Given the description of an element on the screen output the (x, y) to click on. 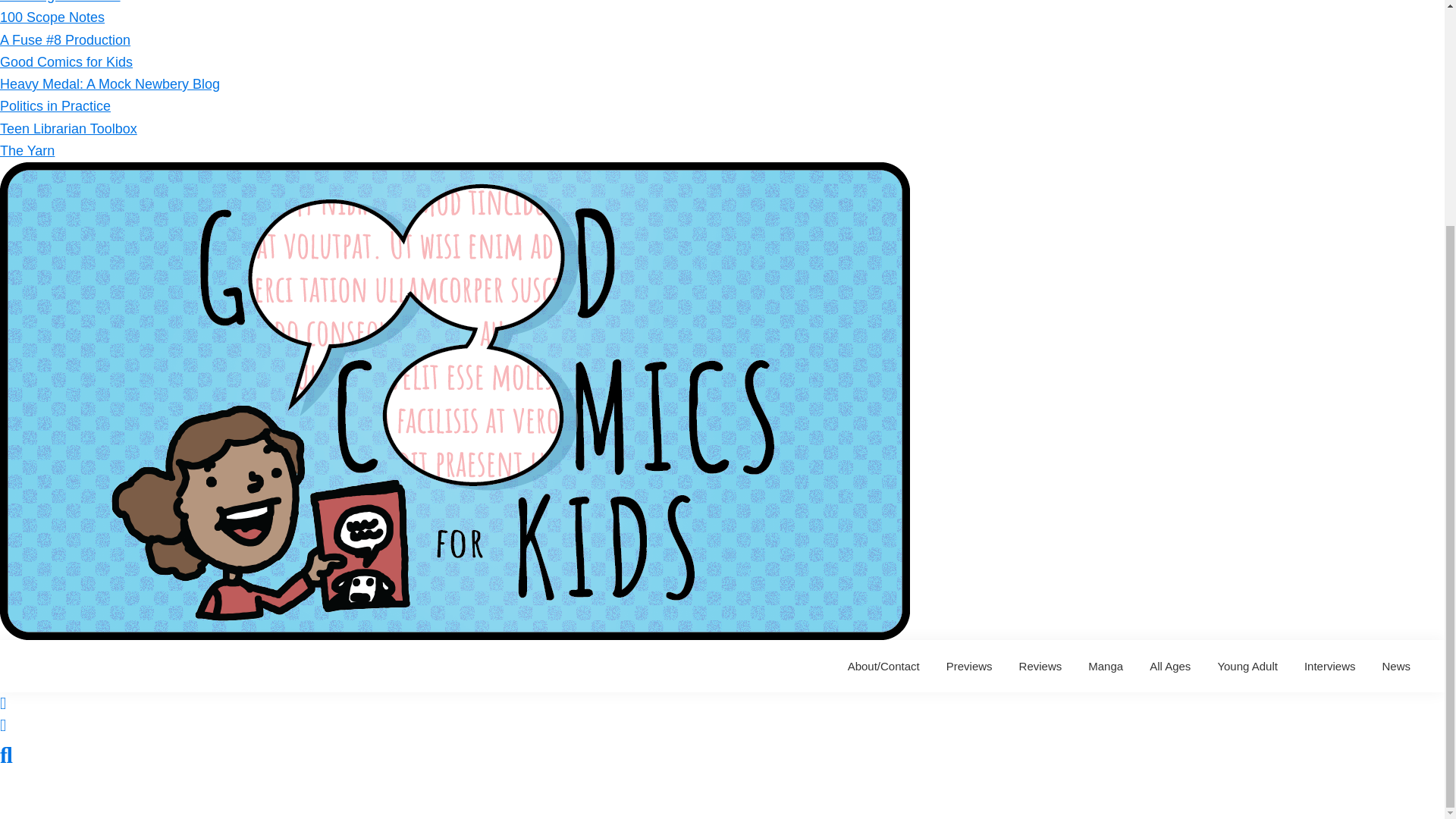
Heavy Medal: A Mock Newbery Blog (109, 83)
Previews (969, 665)
The Yarn (27, 150)
All Ages (1170, 665)
Politics in Practice (55, 105)
News (1396, 665)
Good Comics for Kids (66, 61)
Teen Librarian Toolbox (68, 128)
100 Scope Notes (52, 17)
Young Adult (1246, 665)
Manga (1105, 665)
Interviews (1329, 665)
Reviews (1040, 665)
